Given the description of an element on the screen output the (x, y) to click on. 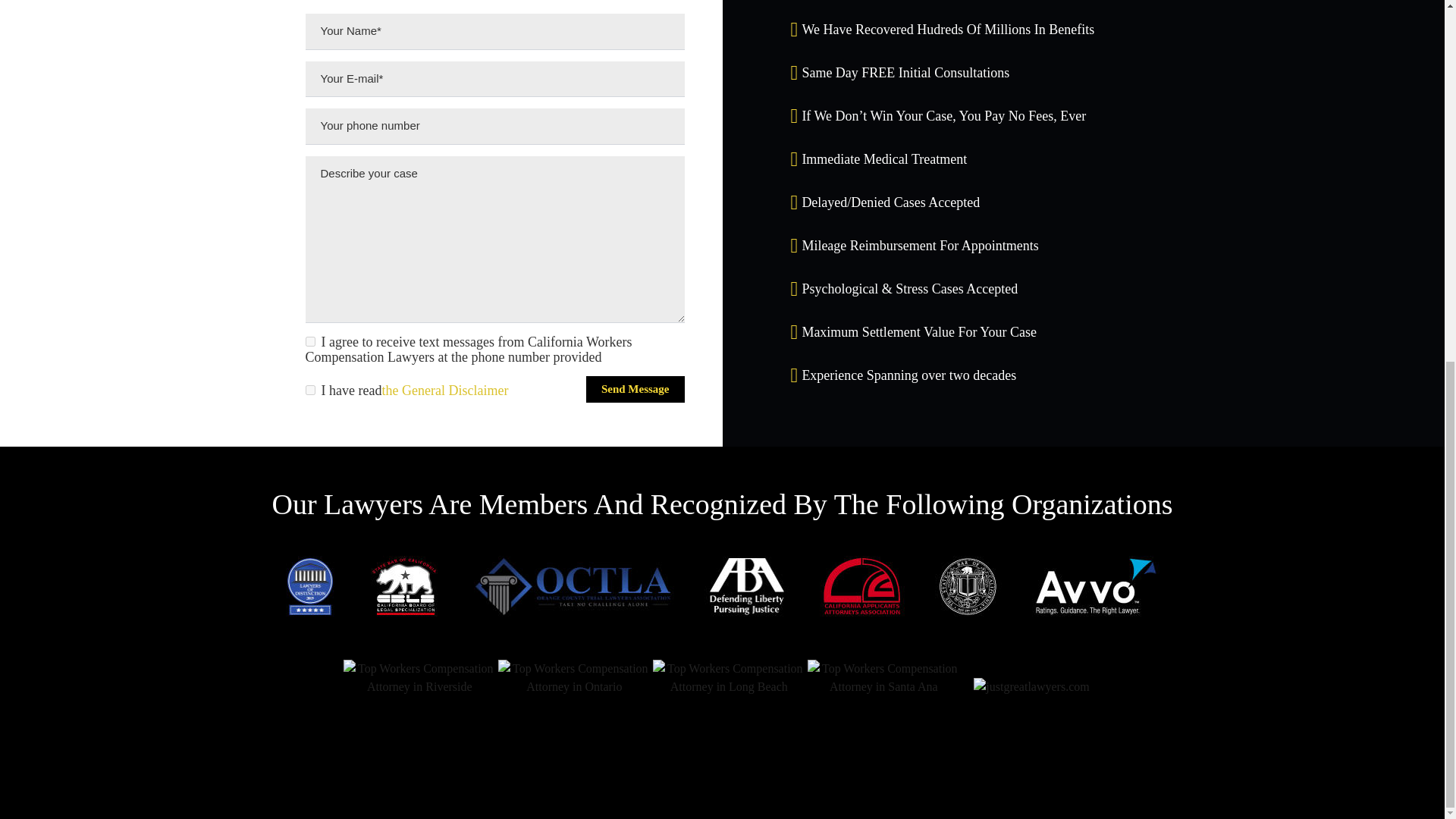
General Disclaimer (461, 215)
YouTube player (721, 734)
I have read (323, 215)
I agree (323, 166)
Send Message (635, 214)
